Given the description of an element on the screen output the (x, y) to click on. 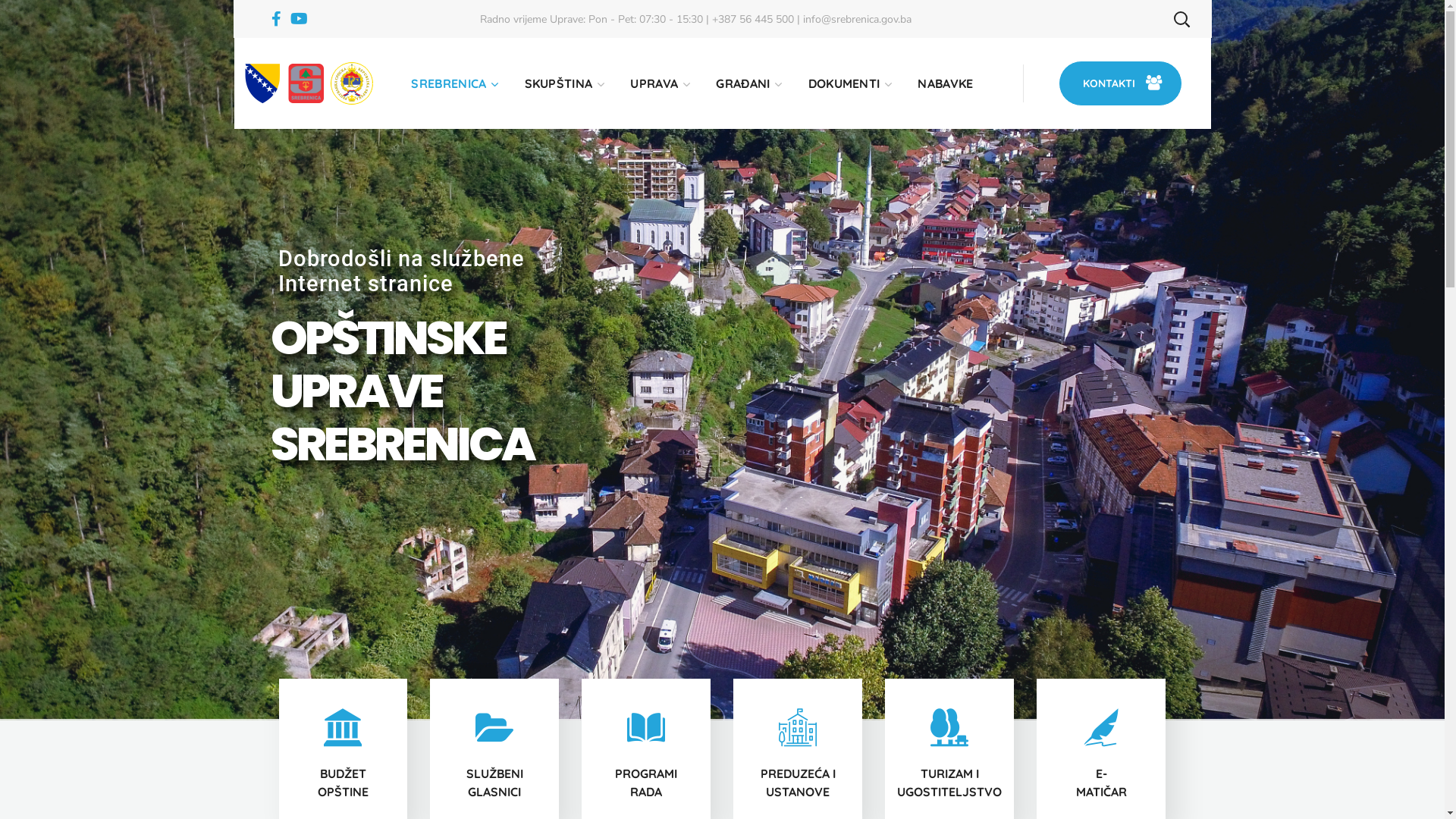
NABAVKE Element type: text (944, 83)
UPRAVA Element type: text (659, 83)
Search Element type: text (1141, 68)
SREBRENICA Element type: text (453, 83)
KONTAKTI Element type: text (1120, 83)
DOKUMENTI Element type: text (849, 83)
